Given the description of an element on the screen output the (x, y) to click on. 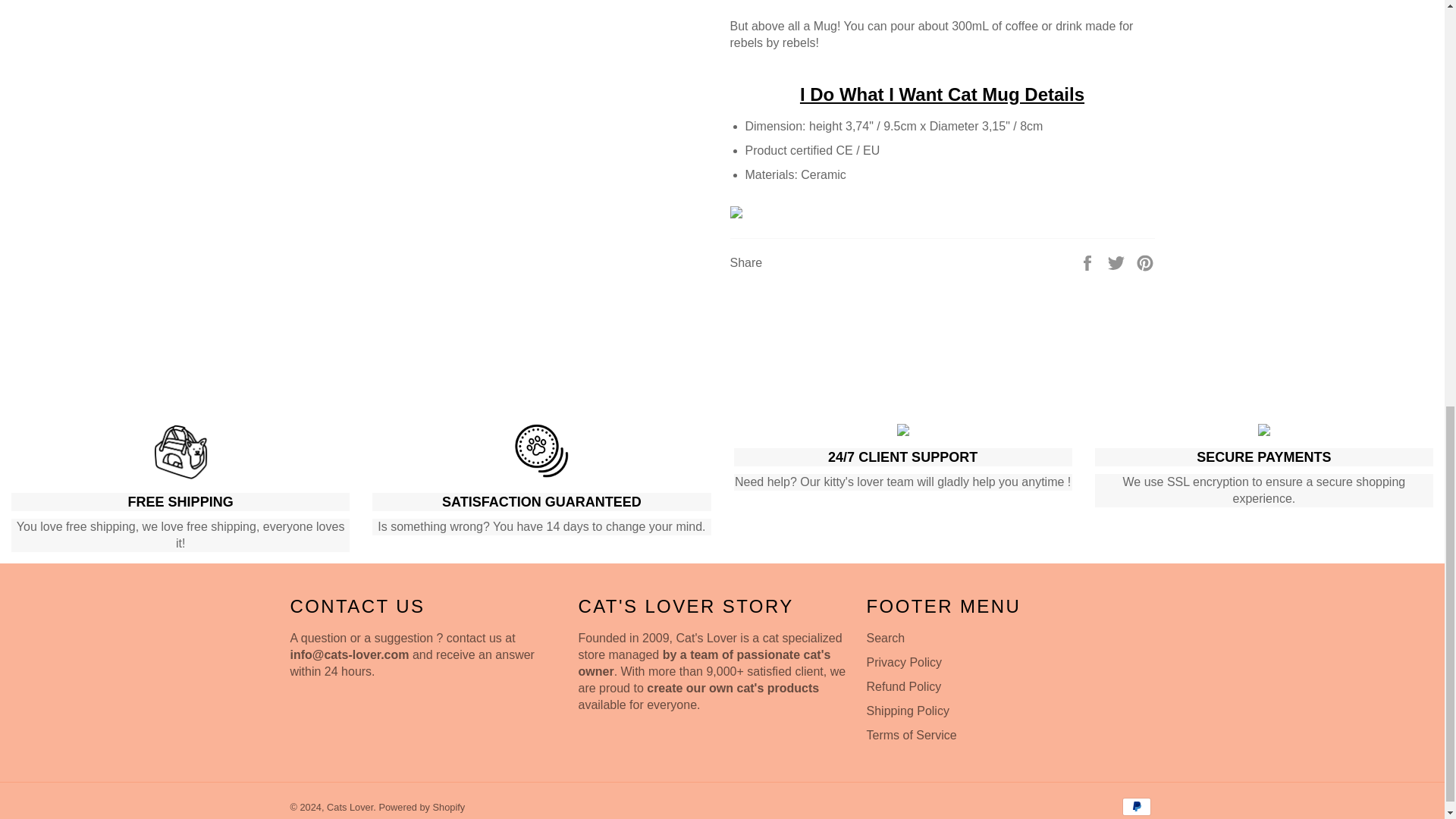
Pin on Pinterest (1144, 261)
Tweet on Twitter (1117, 261)
Share on Facebook (1088, 261)
